Given the description of an element on the screen output the (x, y) to click on. 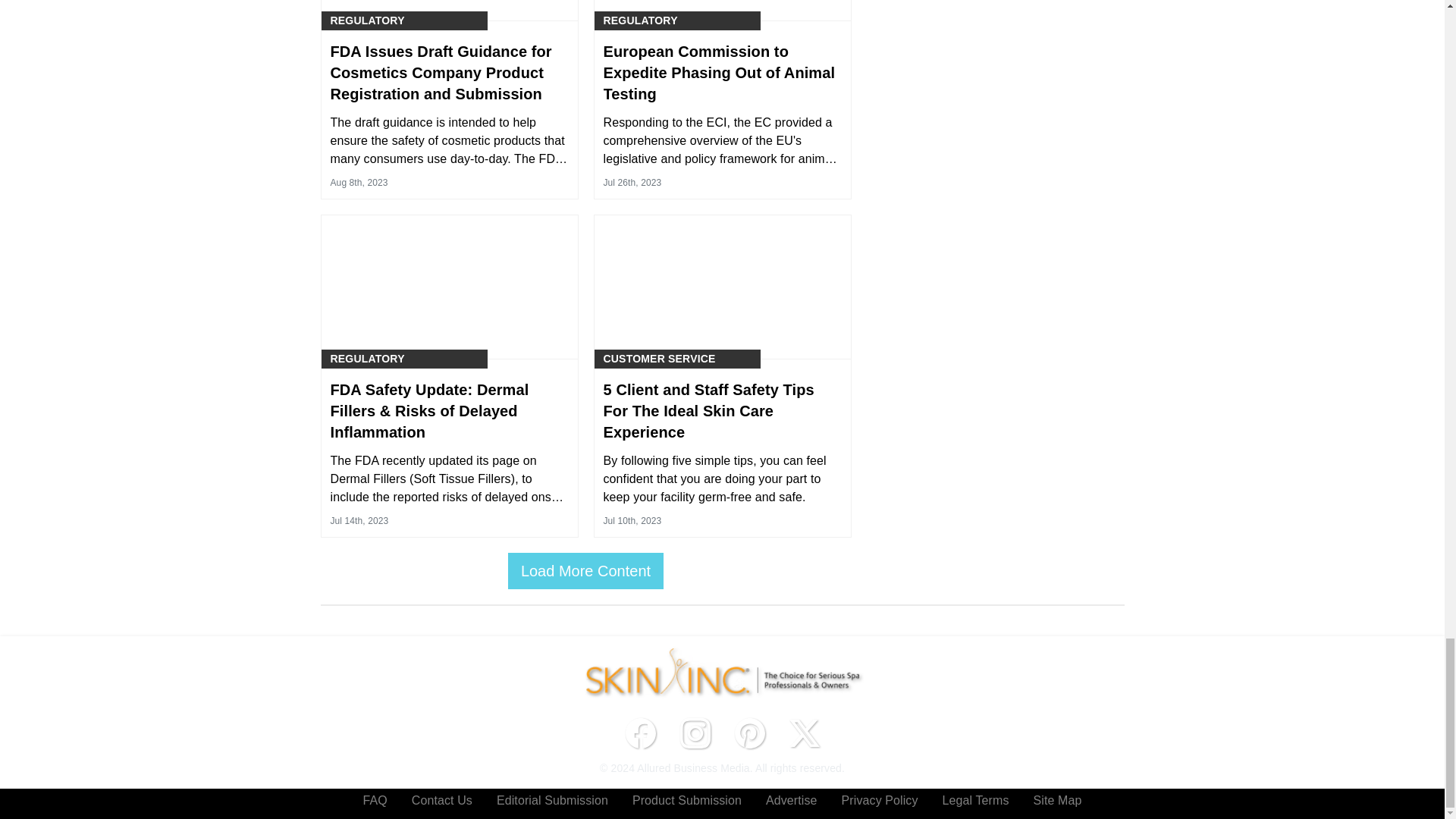
Twitter X icon (803, 733)
Facebook icon (639, 733)
Instagram icon (694, 733)
Pinterest icon (748, 733)
